Given the description of an element on the screen output the (x, y) to click on. 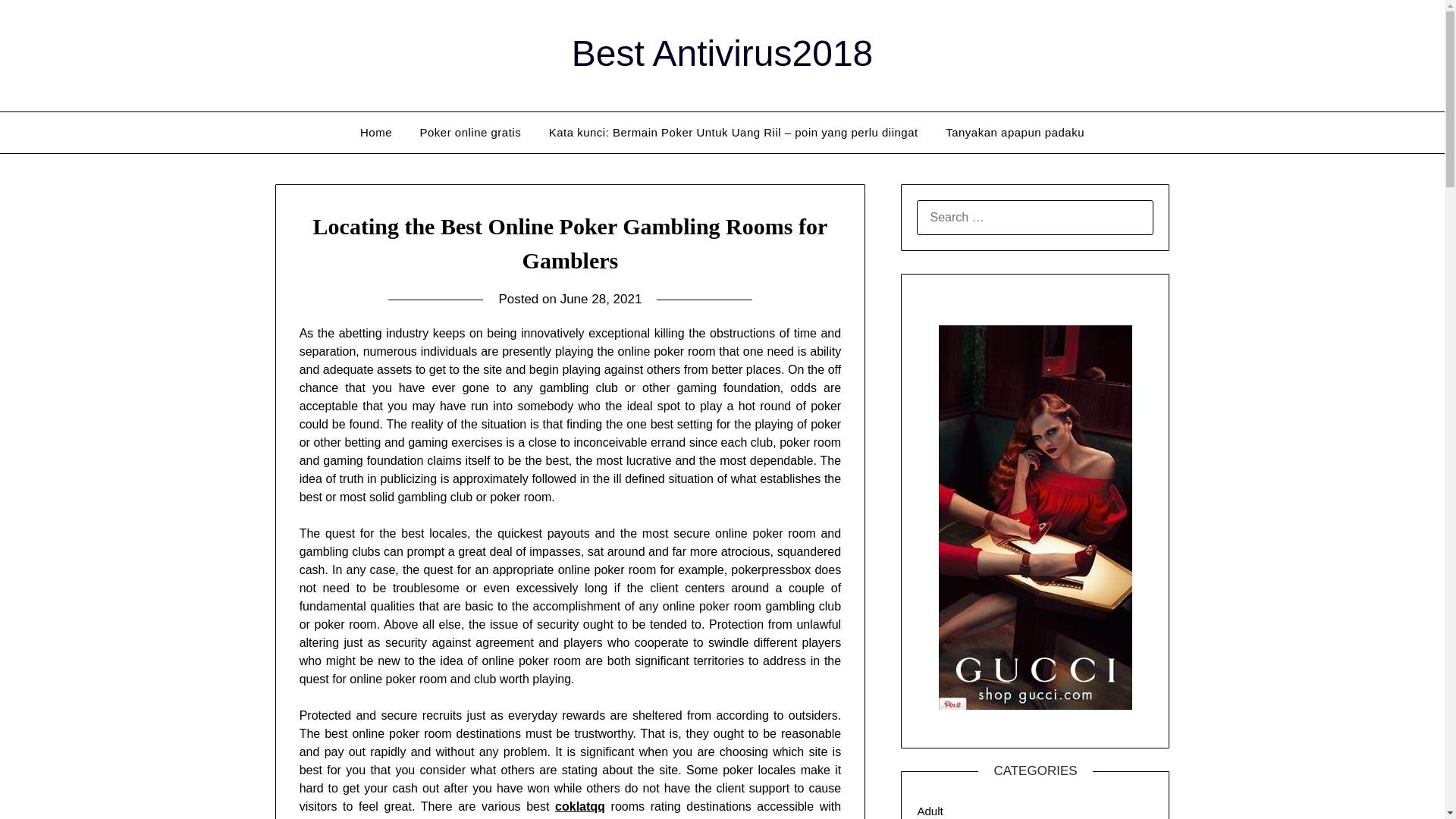
Home (375, 132)
Search (38, 22)
coklatqq (579, 806)
Poker online gratis (469, 132)
Adult (929, 810)
Tanyakan apapun padaku (1014, 132)
Best Antivirus2018 (722, 53)
June 28, 2021 (601, 298)
